Given the description of an element on the screen output the (x, y) to click on. 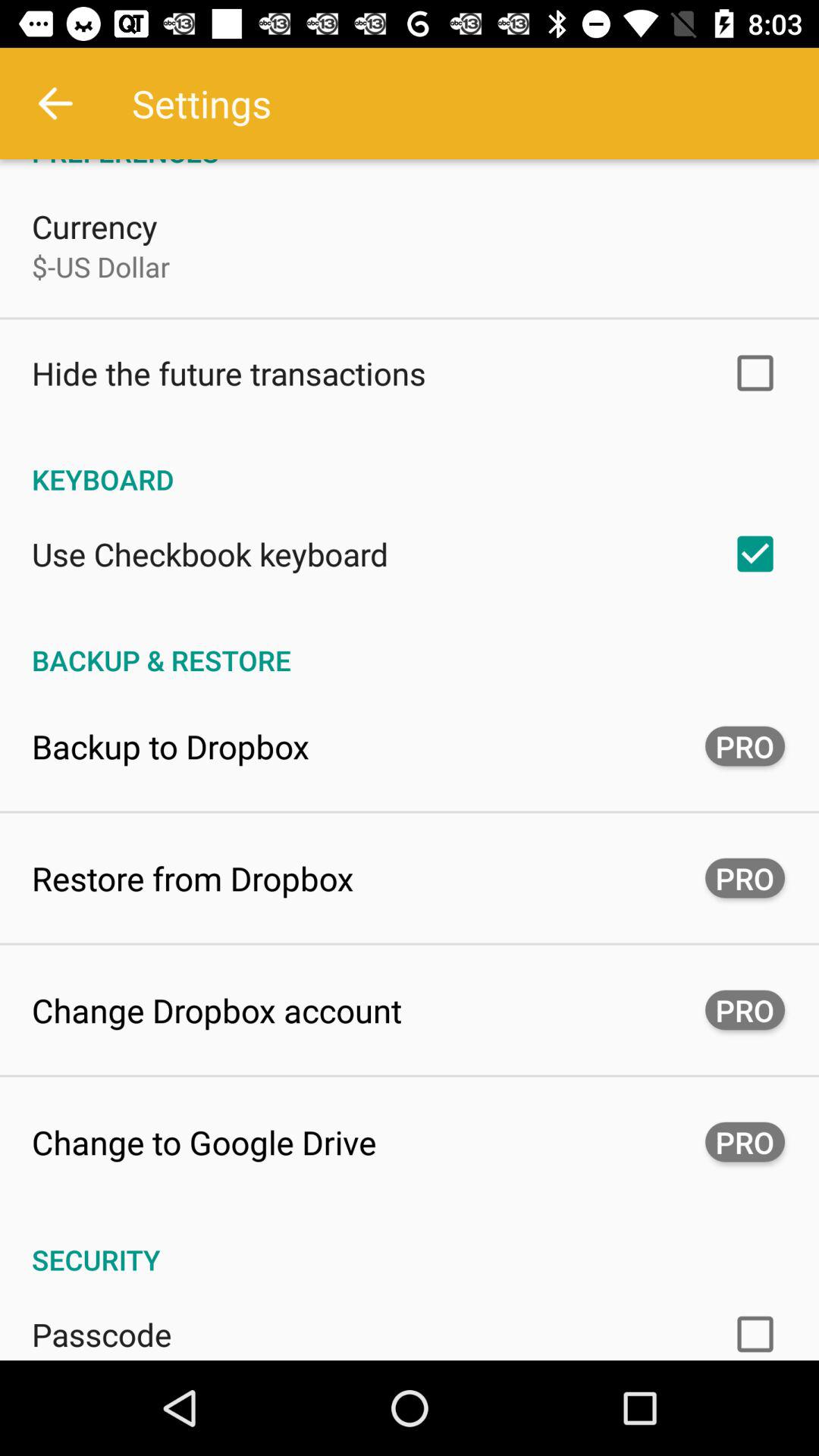
tap icon below the change dropbox account app (203, 1141)
